Given the description of an element on the screen output the (x, y) to click on. 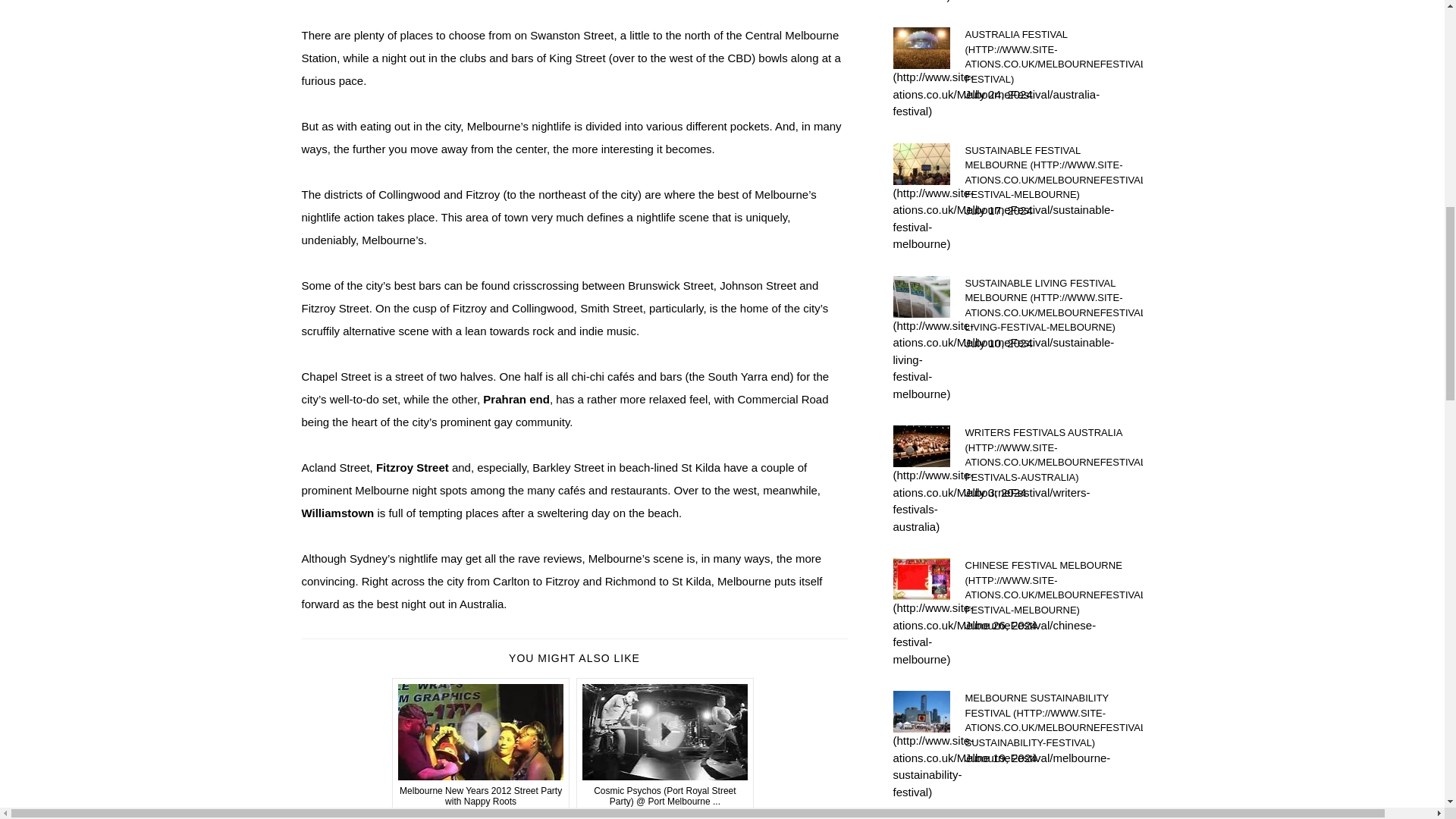
View this video from YouTube (665, 745)
AUSTRALIA FESTIVAL (1052, 56)
SUSTAINABLE LIVING FESTIVAL MELBOURNE (1052, 305)
WRITERS FESTIVALS AUSTRALIA (1052, 454)
SUSTAINABLE FESTIVAL MELBOURNE (1052, 171)
View this video from YouTube (480, 745)
View this video from YouTube (573, 816)
